Given the description of an element on the screen output the (x, y) to click on. 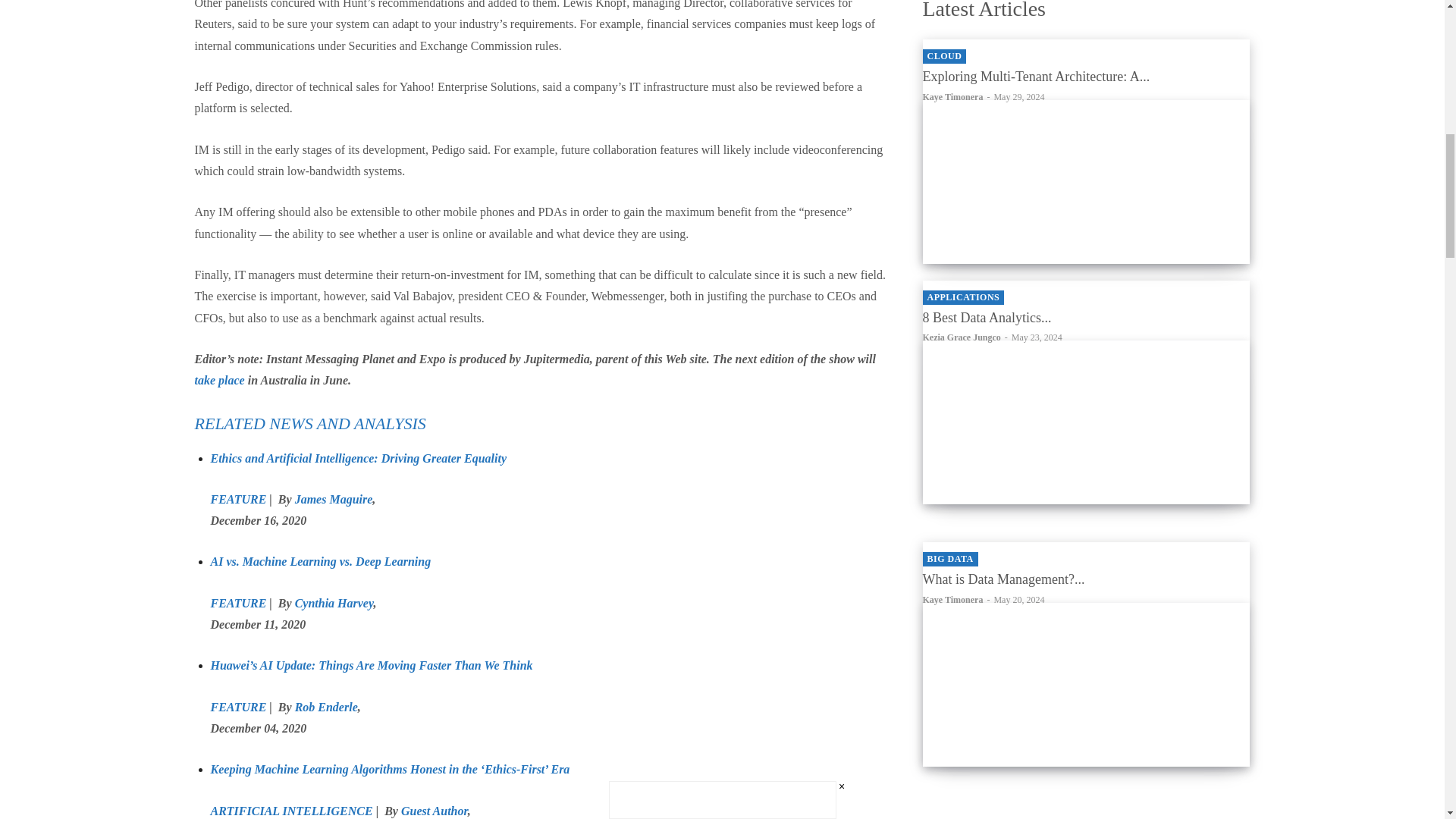
take place (218, 379)
Ethics and Artificial Intelligence: Driving Greater Equality (358, 458)
